Given the description of an element on the screen output the (x, y) to click on. 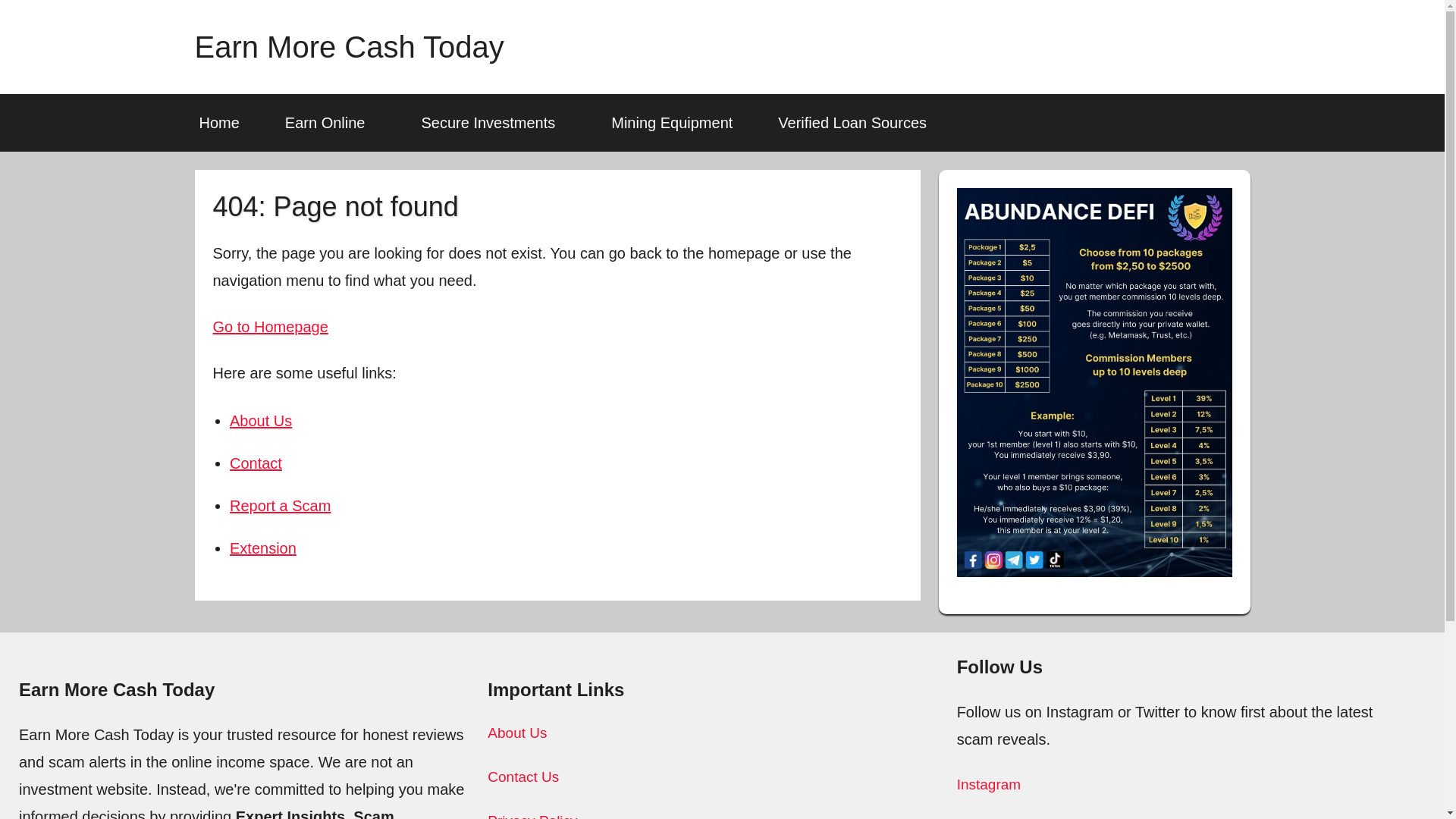
Earn More Cash Today (348, 46)
Earn Online (330, 122)
Home (219, 122)
Go to Homepage (269, 326)
Mining Equipment (671, 122)
About Us (517, 732)
Extension (263, 547)
Verified Loan Sources (852, 122)
Privacy Policy (531, 816)
About Us (261, 420)
